Given the description of an element on the screen output the (x, y) to click on. 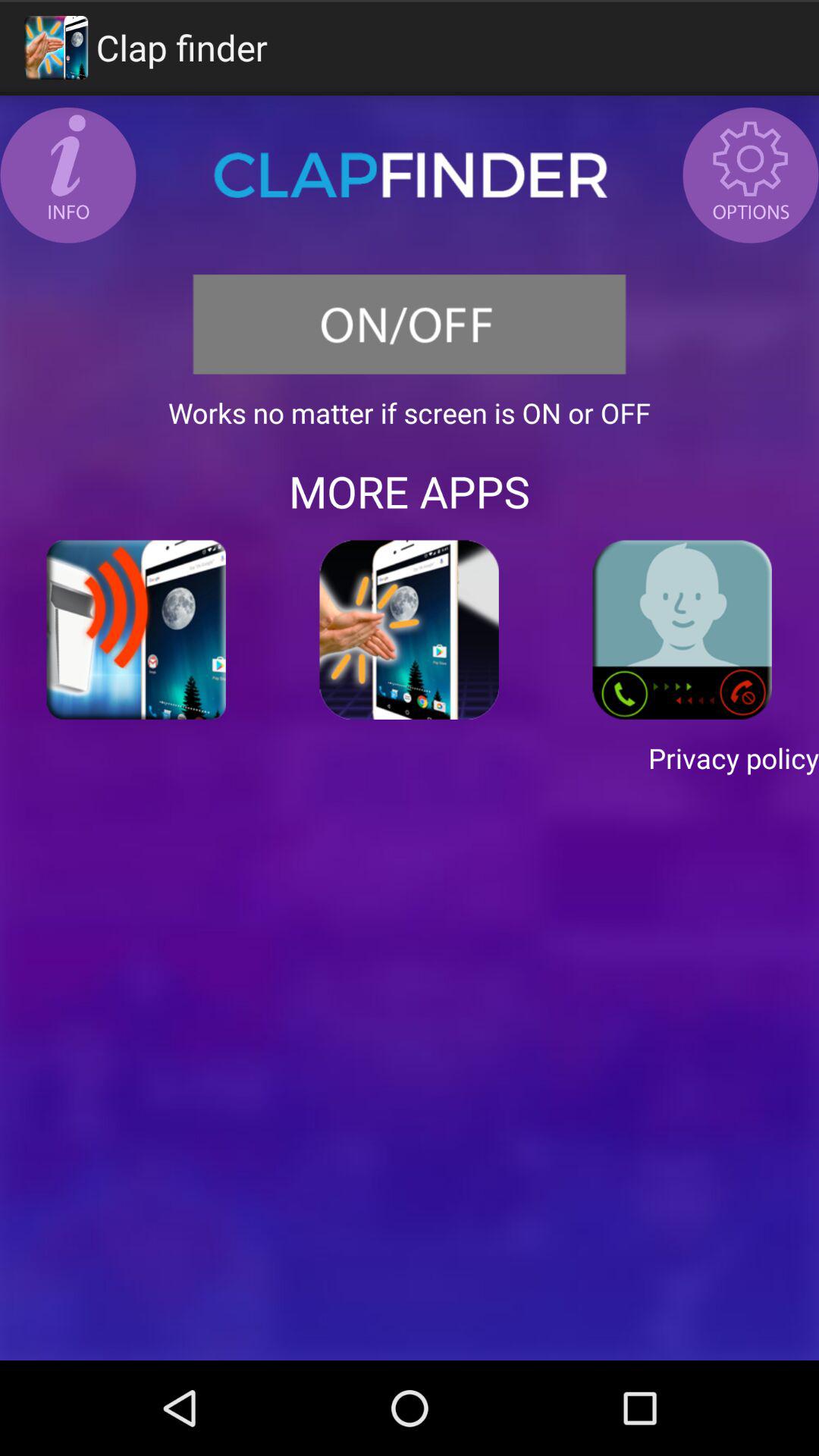
app advertisement (682, 629)
